Given the description of an element on the screen output the (x, y) to click on. 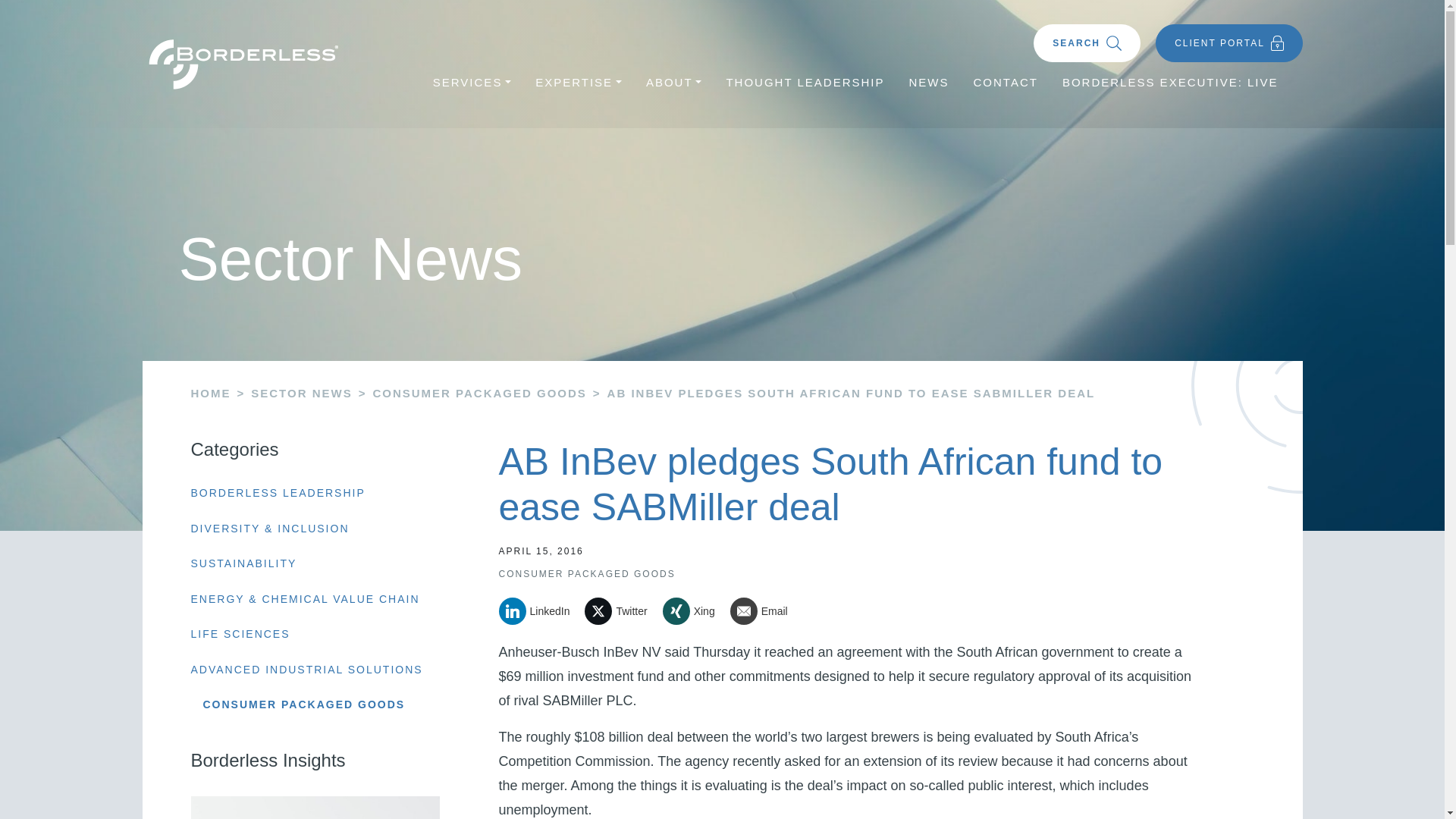
ABOUT (673, 82)
Twitter (621, 610)
SUSTAINABILITY (243, 563)
SEARCH (1086, 43)
EXPERTISE (578, 82)
Share on LinkedIn (539, 610)
Go to Sector News. (301, 392)
SECTOR NEWS (301, 392)
SERVICES (471, 82)
HOME (210, 392)
